Given the description of an element on the screen output the (x, y) to click on. 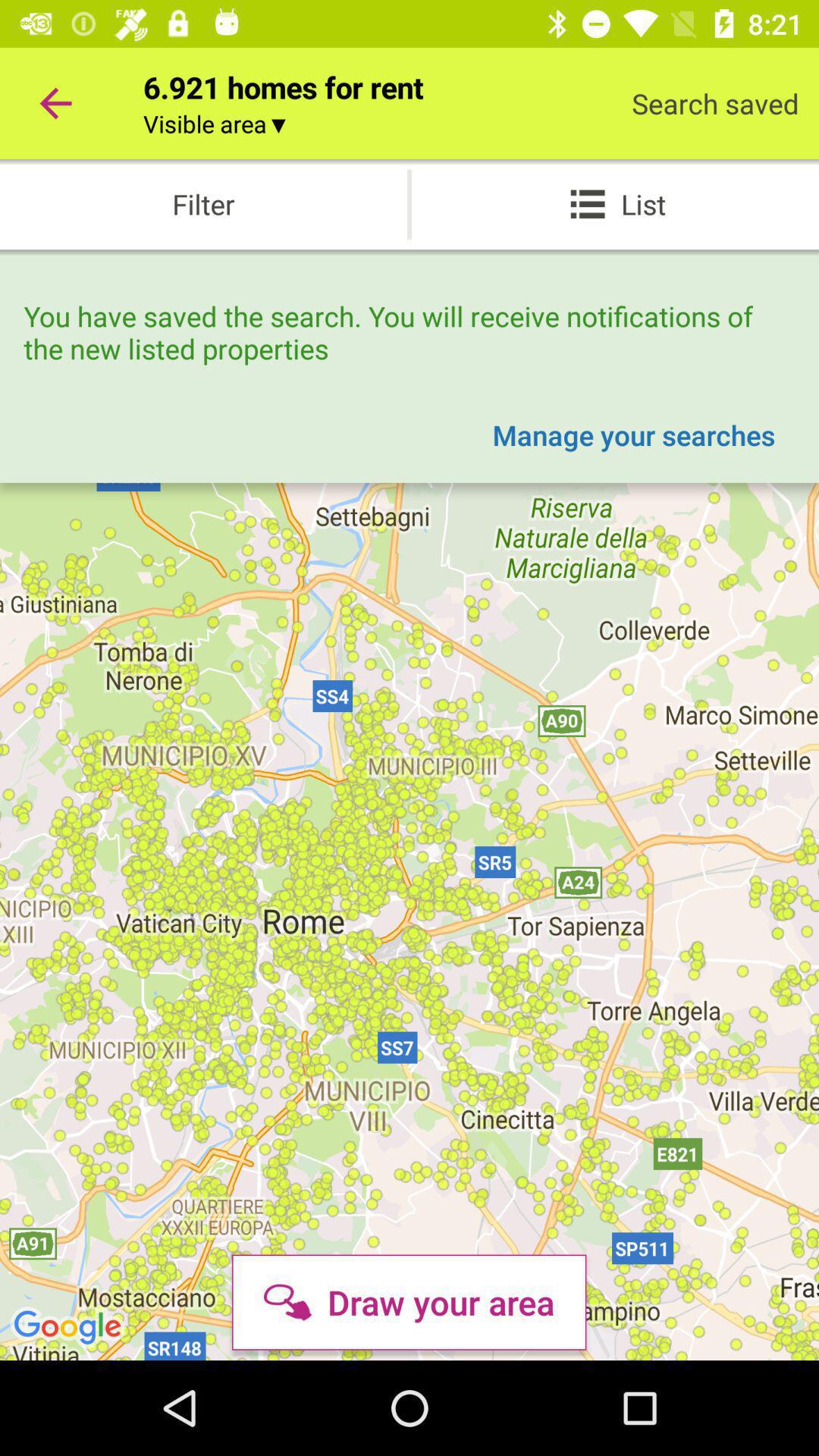
choose icon next to the 6 921 homes item (55, 103)
